Given the description of an element on the screen output the (x, y) to click on. 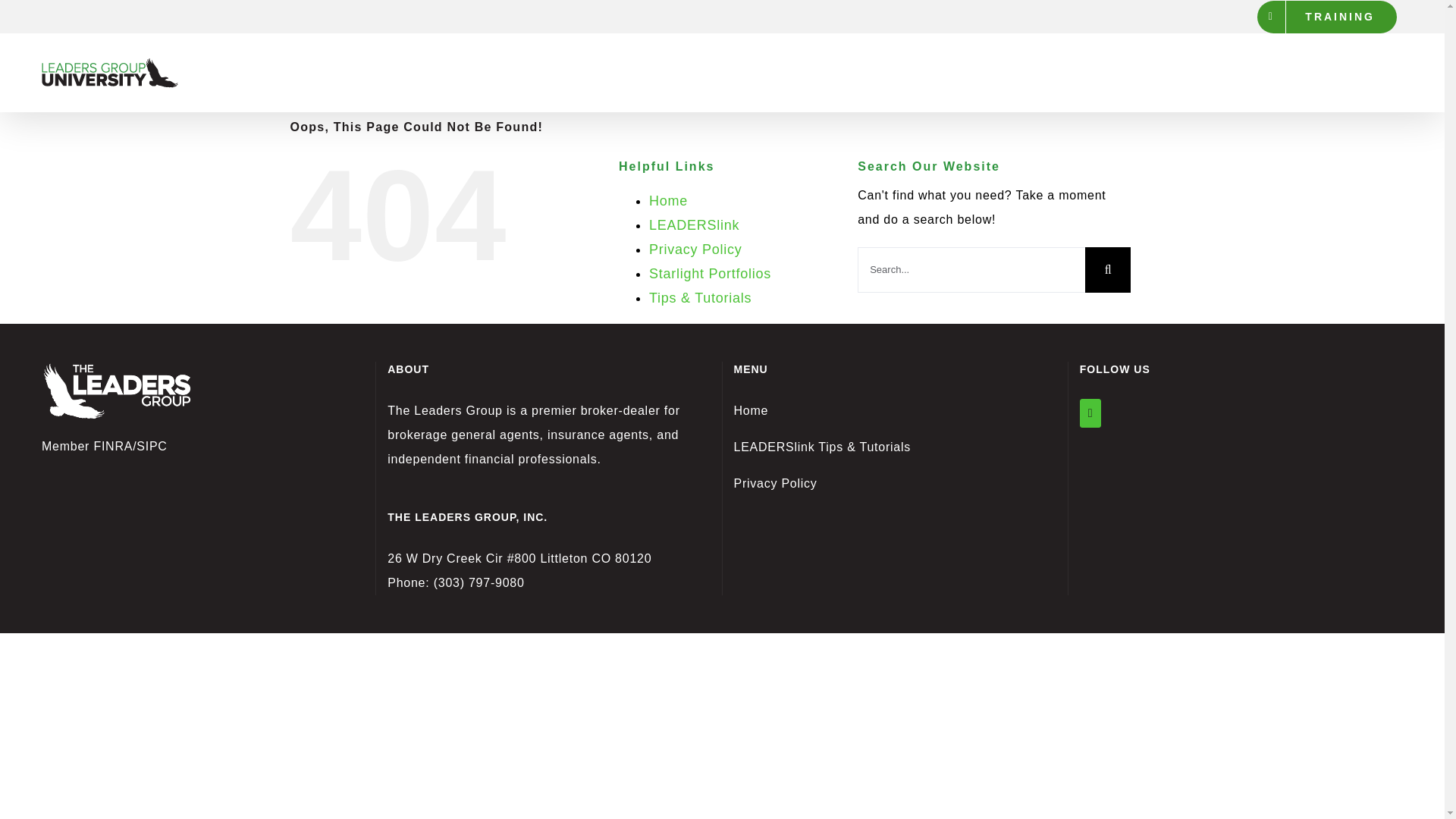
Starlight Portfolios (710, 273)
TRAINING (1326, 16)
Home (668, 200)
Privacy Policy (774, 482)
FINRA (112, 445)
LEADERSlink (694, 224)
Privacy Policy (695, 249)
SIPC (151, 445)
Home (750, 410)
